Given the description of an element on the screen output the (x, y) to click on. 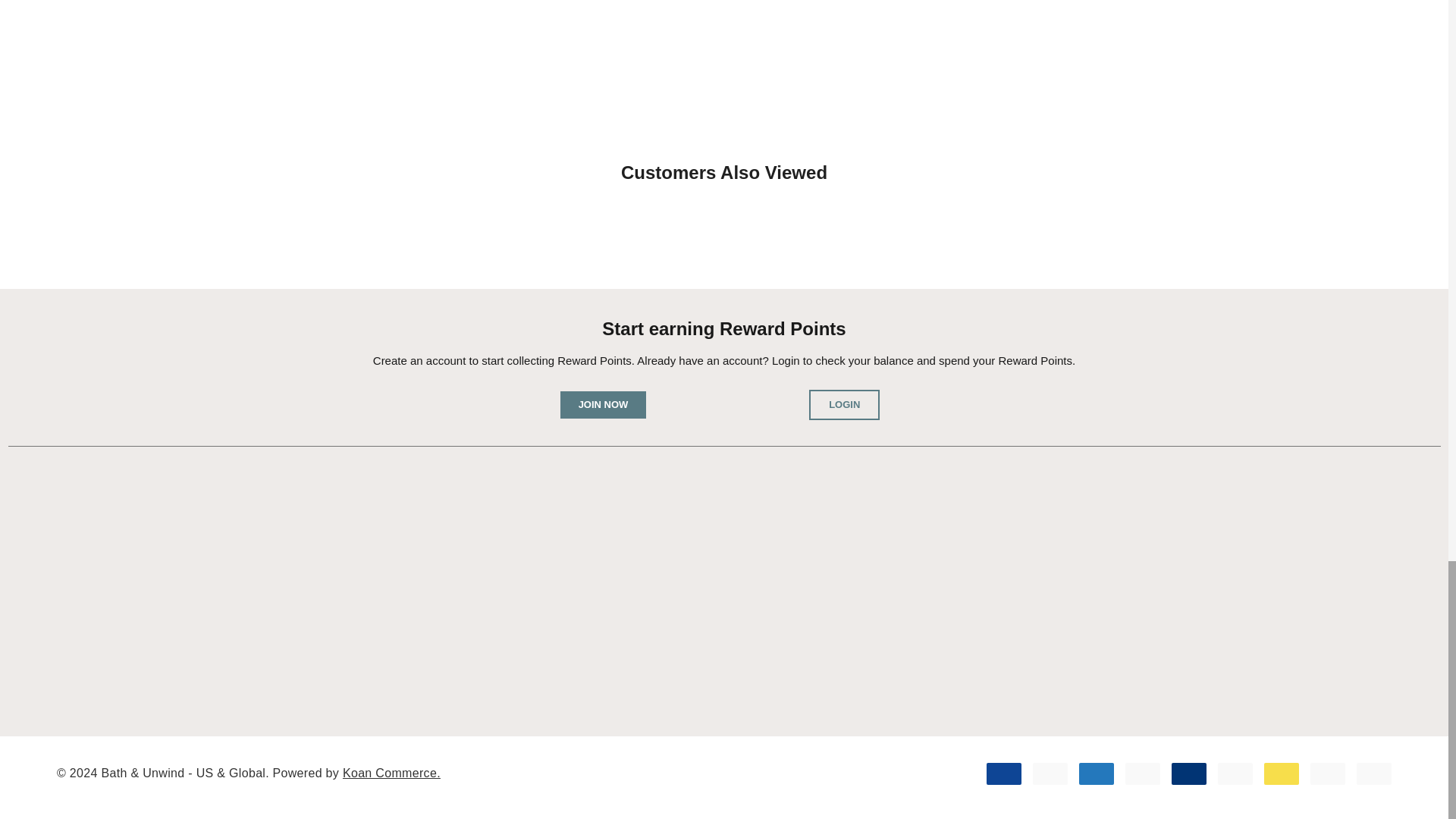
Cirrus Cirrus (1189, 773)
Koan Commerce (391, 772)
Western Union Western Union (1280, 773)
Visa Visa (1004, 773)
Paypal Paypal (1234, 773)
Mastercard Mastercard (1049, 773)
Amazonpay Amazonpay (1327, 773)
Google Pay Google Pay (1373, 773)
Discover Discover (1142, 773)
Amex Amex (1095, 773)
